Given the description of an element on the screen output the (x, y) to click on. 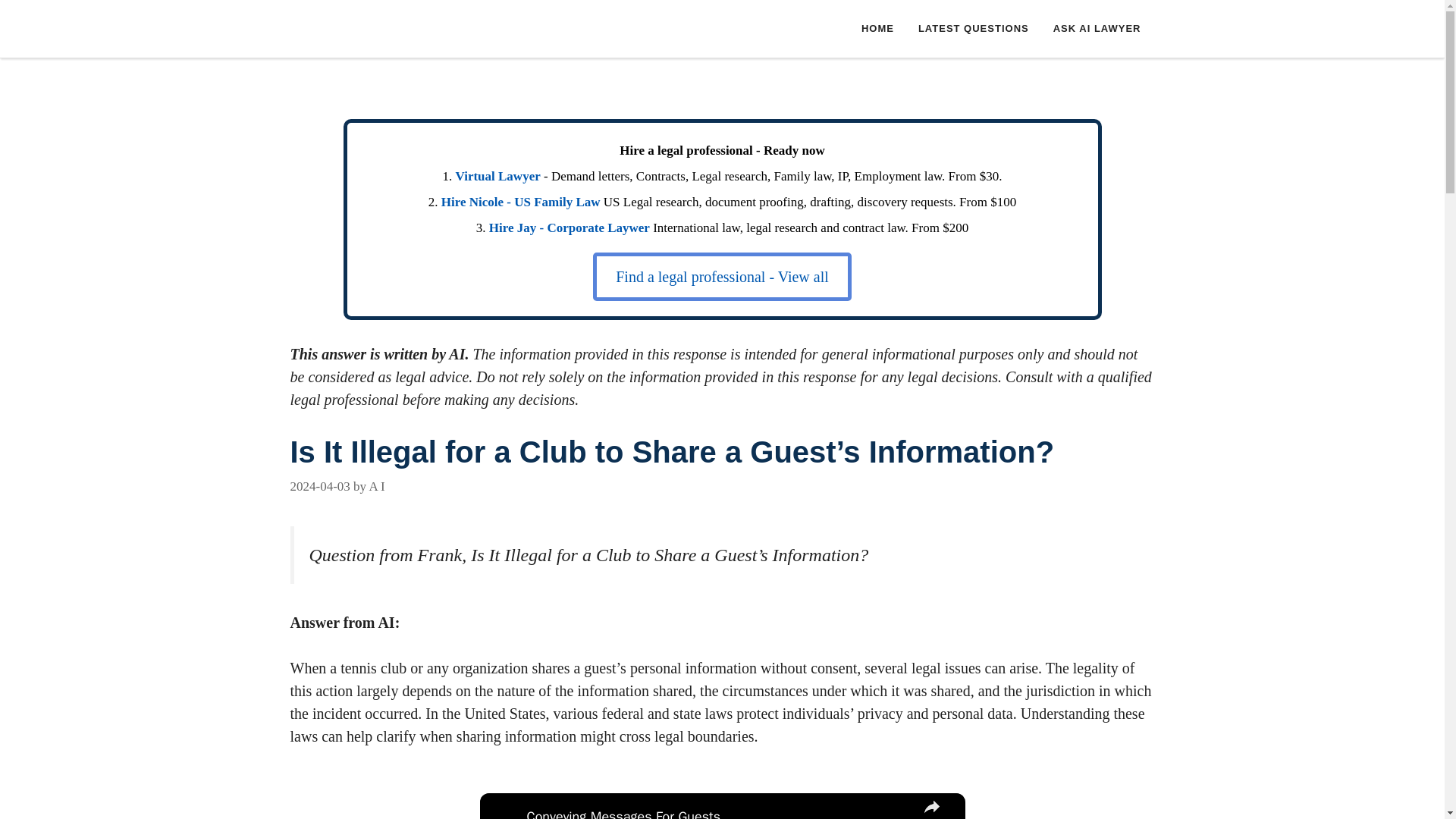
Find a legal professional - View all (721, 276)
ASK AI LAWYER (1097, 28)
View all posts by A I (376, 486)
Virtual Lawyer (497, 175)
HOME (876, 28)
Conveying Messages For Guests (716, 812)
Hire Jay - Corporate Laywer (569, 227)
Hire Nicole - US Family Law (520, 201)
A I (376, 486)
Share (931, 806)
share (931, 806)
LATEST QUESTIONS (973, 28)
